Given the description of an element on the screen output the (x, y) to click on. 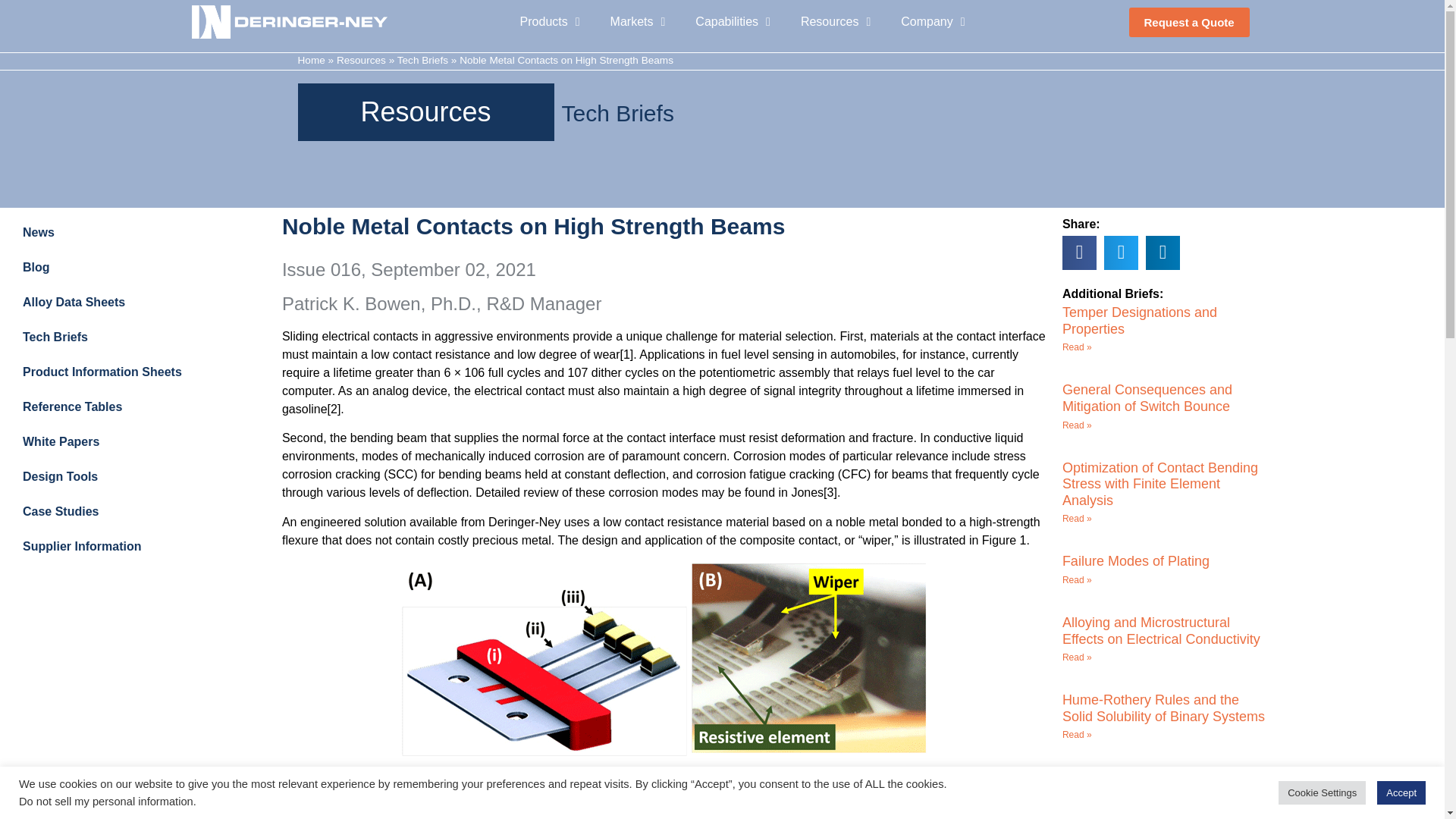
Products (550, 21)
Markets (638, 21)
Resources (835, 21)
Capabilities (732, 21)
